Given the description of an element on the screen output the (x, y) to click on. 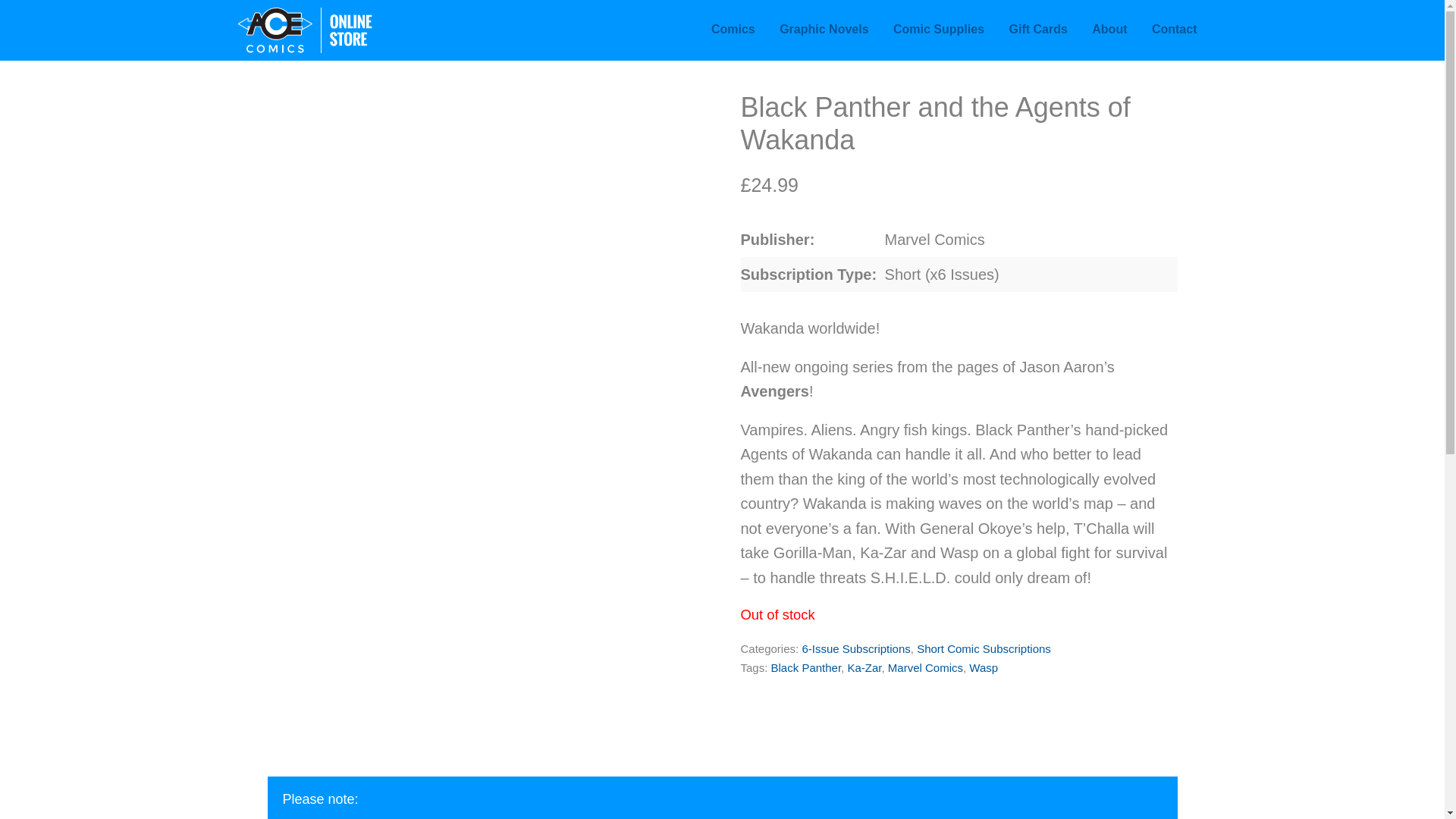
Wasp (983, 667)
Short Comic Subscriptions (984, 648)
Comics (732, 29)
Ace Comics (334, 30)
Black Panther (806, 667)
Contact (1174, 29)
About ACE Comics (1109, 29)
About (1109, 29)
Marvel Comics (925, 667)
